Given the description of an element on the screen output the (x, y) to click on. 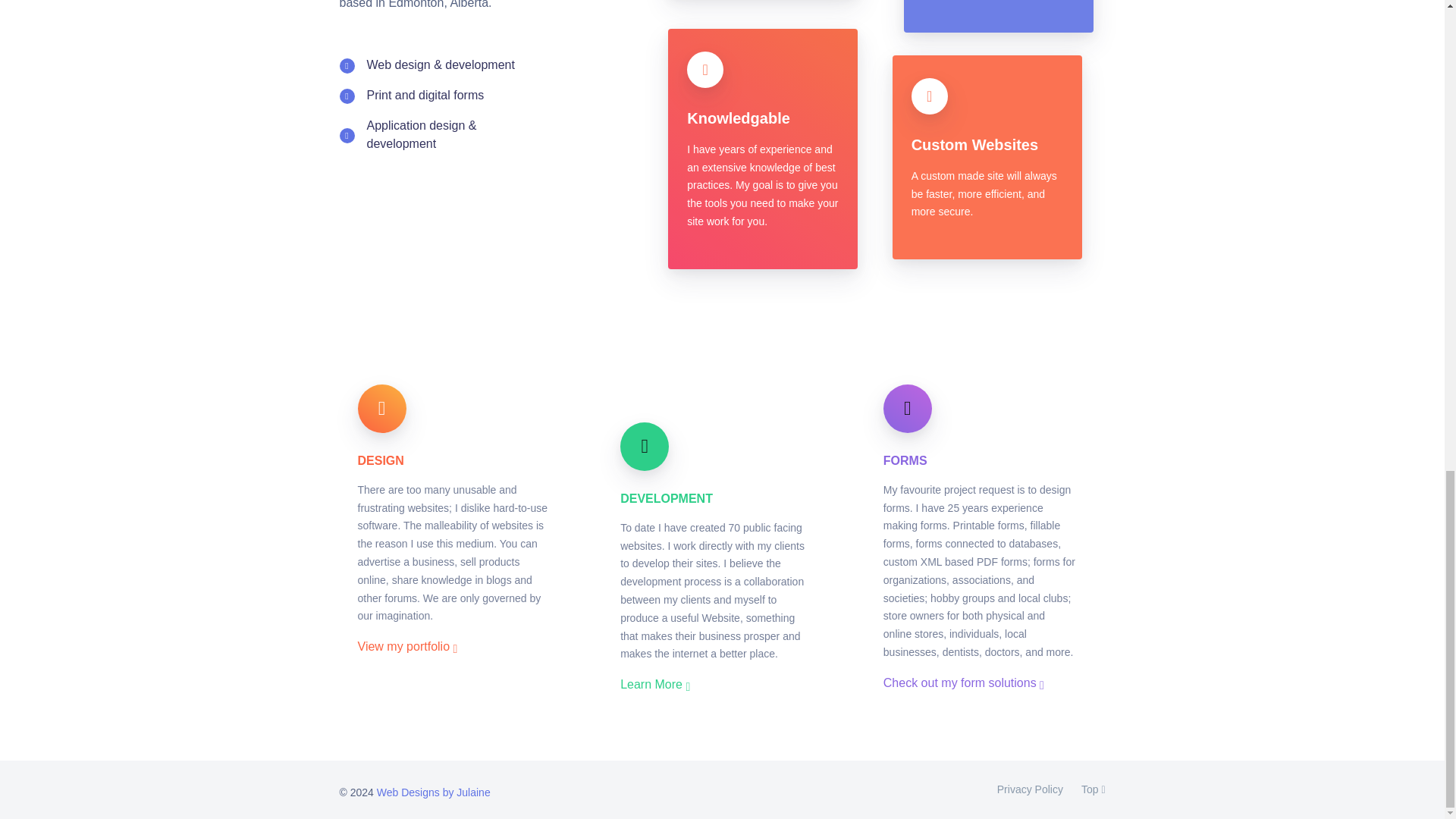
Learn More (655, 684)
Check out my form solutions (963, 682)
View my portfolio (408, 645)
Privacy Policy (1029, 789)
Top (1088, 789)
Web Designs by Julaine (433, 792)
